Given the description of an element on the screen output the (x, y) to click on. 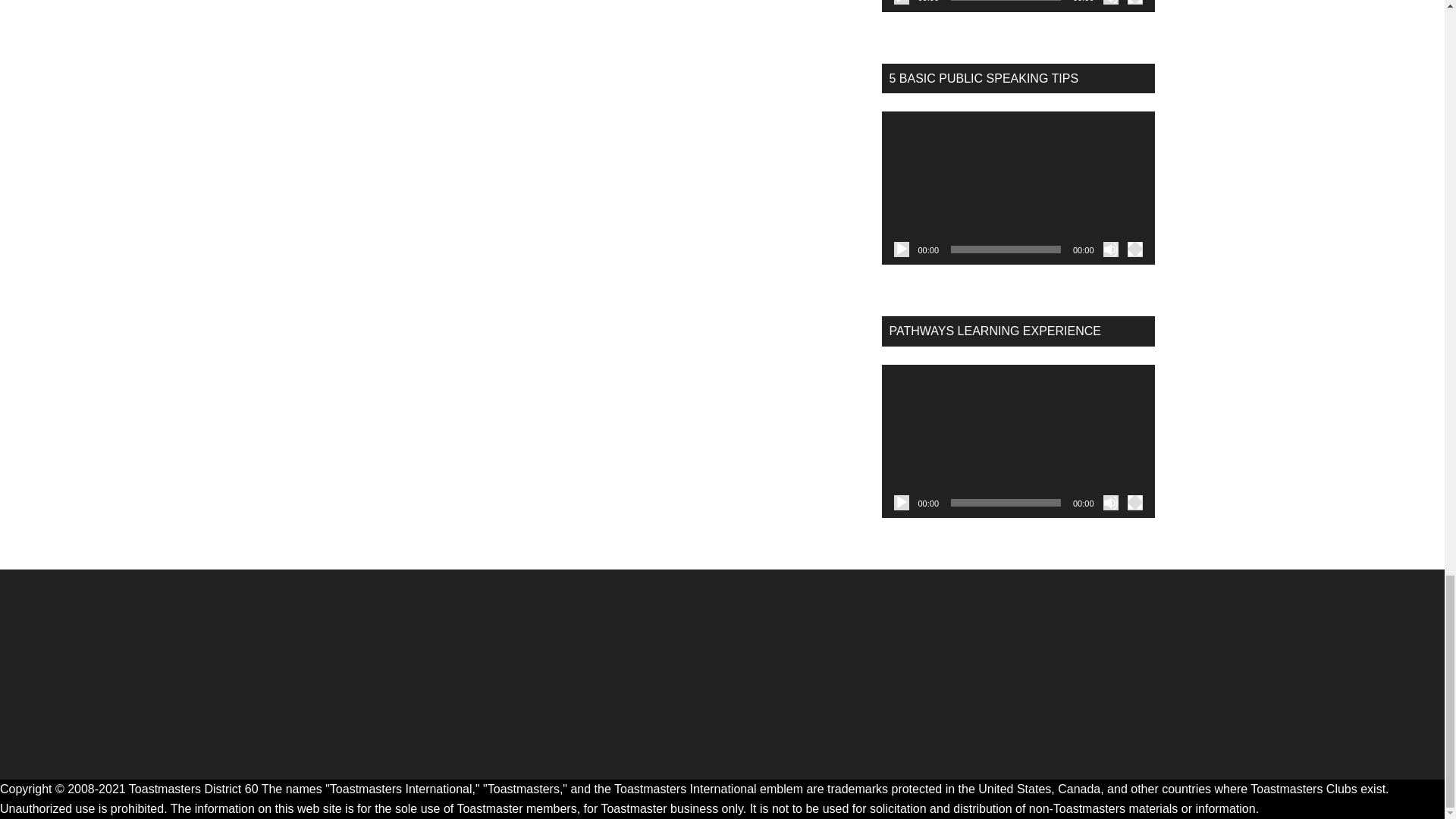
Fullscreen (1133, 502)
Fullscreen (1133, 249)
Play (900, 249)
Mute (1110, 249)
Play (900, 2)
Mute (1110, 2)
Fullscreen (1133, 2)
Play (900, 502)
Mute (1110, 502)
